Given the description of an element on the screen output the (x, y) to click on. 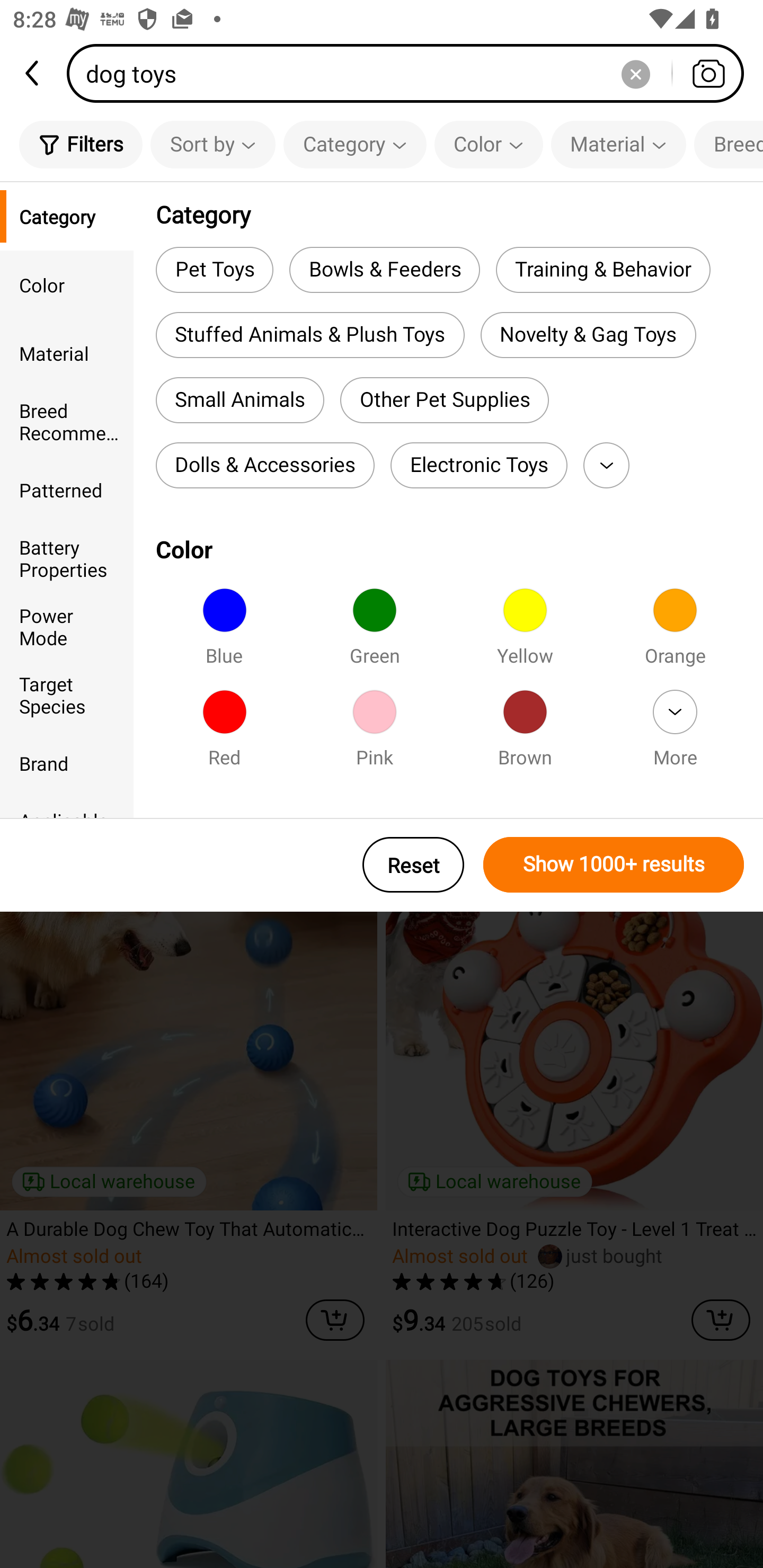
back (33, 72)
dog toys (411, 73)
Delete search history (635, 73)
Search by photo (708, 73)
Filters (80, 143)
Sort by (212, 143)
Category (354, 143)
Color (488, 143)
Material (617, 143)
Breed Recommendation (728, 143)
Category (66, 215)
Pet Toys (214, 269)
Bowls & Feeders (384, 269)
Training & Behavior (602, 269)
Color (66, 284)
Stuffed Animals & Plush Toys (309, 334)
Novelty & Gag Toys (587, 334)
Material (66, 352)
Small Animals (239, 400)
Other Pet Supplies (444, 400)
Breed Recommendation (66, 421)
Dolls & Accessories (264, 464)
Electronic Toys (478, 464)
More (606, 464)
Patterned (66, 489)
Battery Properties (66, 557)
Power Mode (66, 626)
Target Species (66, 694)
More (674, 734)
Brand (66, 762)
Reset (412, 864)
Show 1000+ results (612, 864)
